Given the description of an element on the screen output the (x, y) to click on. 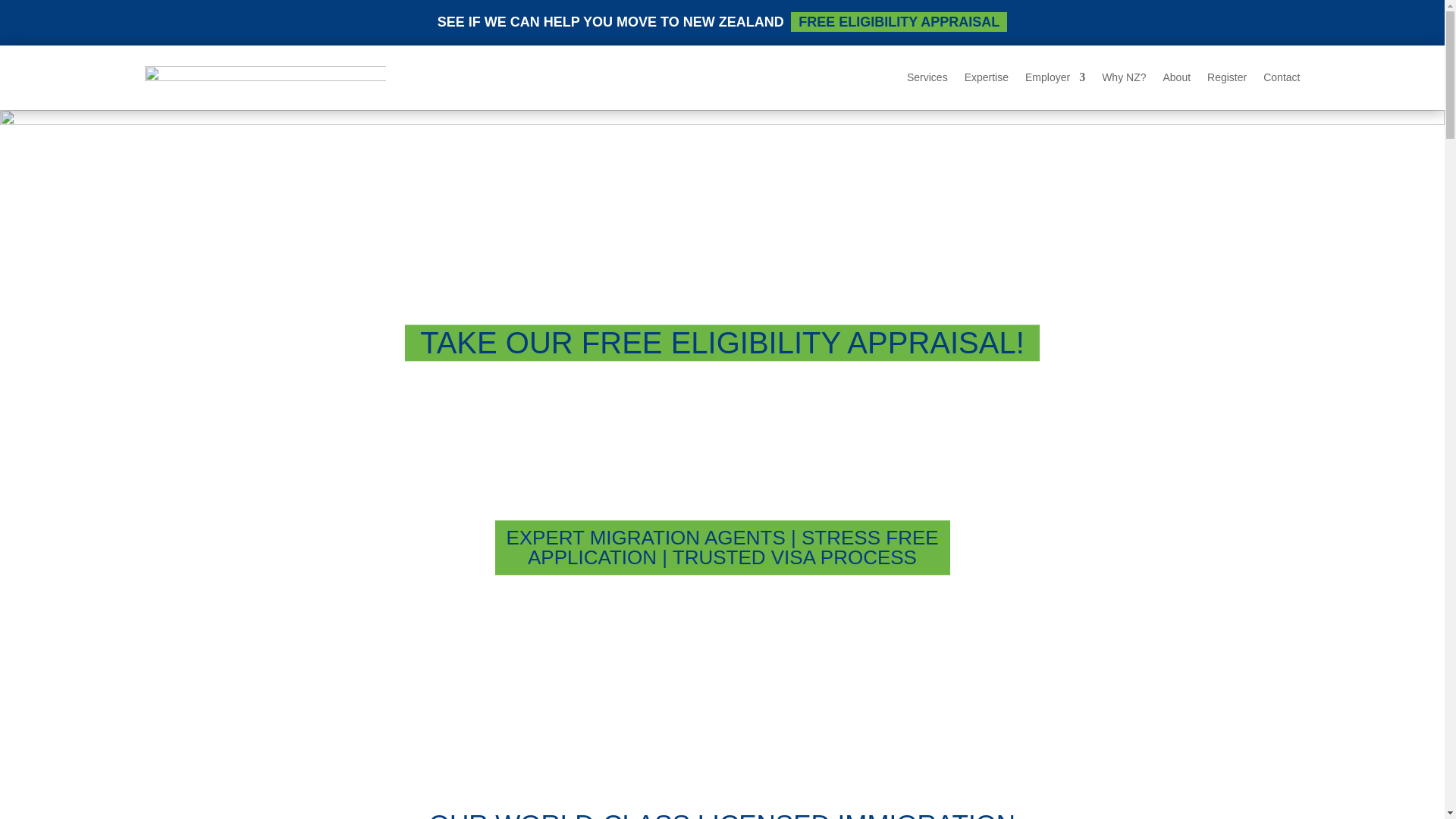
wiv-logo-new-tagline-horizontal-website (264, 77)
Why NZ? (1123, 80)
About (1176, 80)
FREE ELIGIBILITY APPRAISAL (898, 21)
Employer (1054, 80)
Expertise (986, 80)
Services (927, 80)
Contact (1281, 80)
TAKE OUR FREE ELIGIBILITY APPRAISAL! (721, 343)
Register (1226, 80)
